Given the description of an element on the screen output the (x, y) to click on. 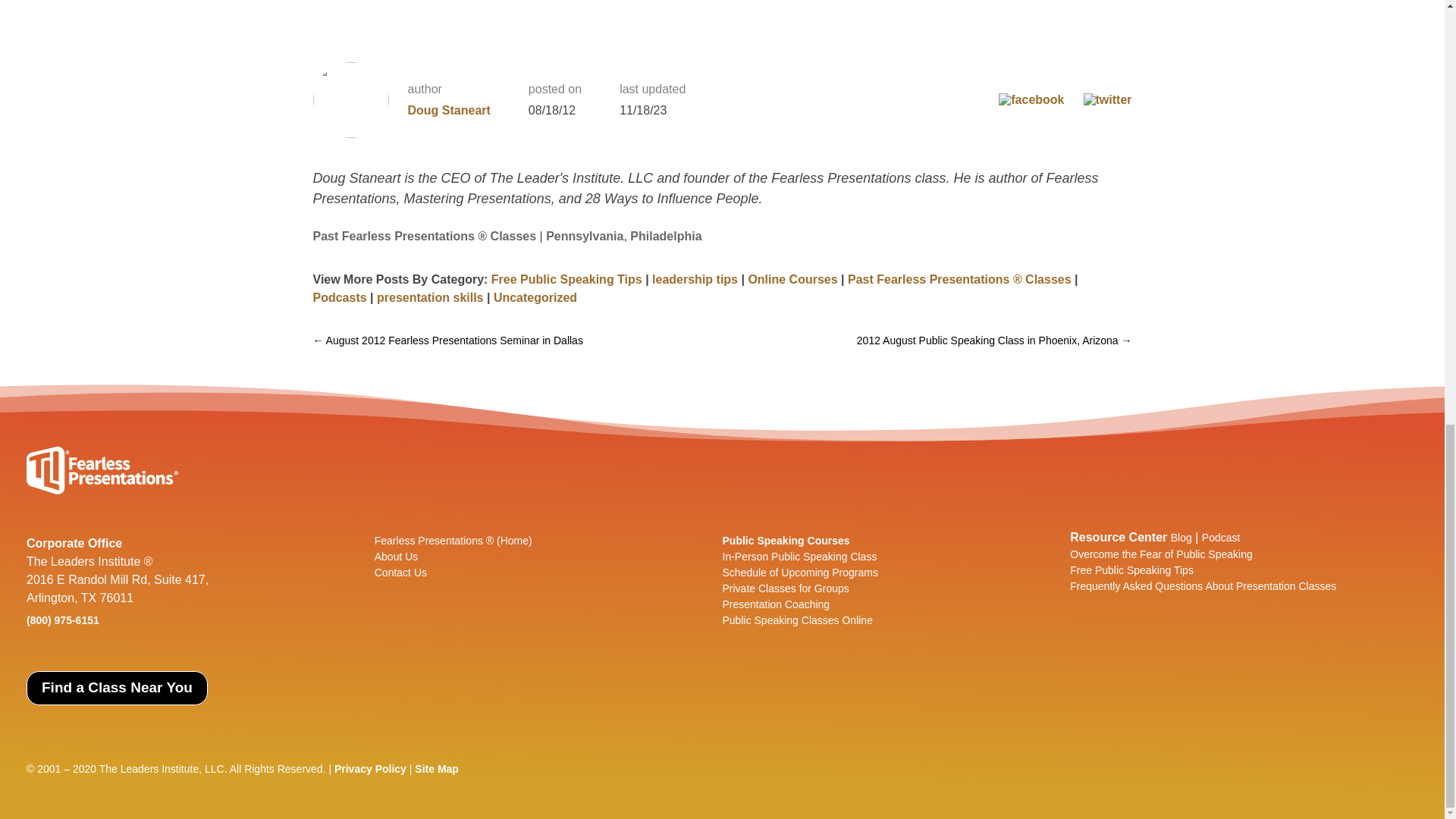
Philadelphia (665, 236)
Free Public Speaking Tips (567, 278)
leadership tips (695, 278)
Pennsylvania (584, 236)
Doug Staneart (448, 110)
Online Courses (792, 278)
